Given the description of an element on the screen output the (x, y) to click on. 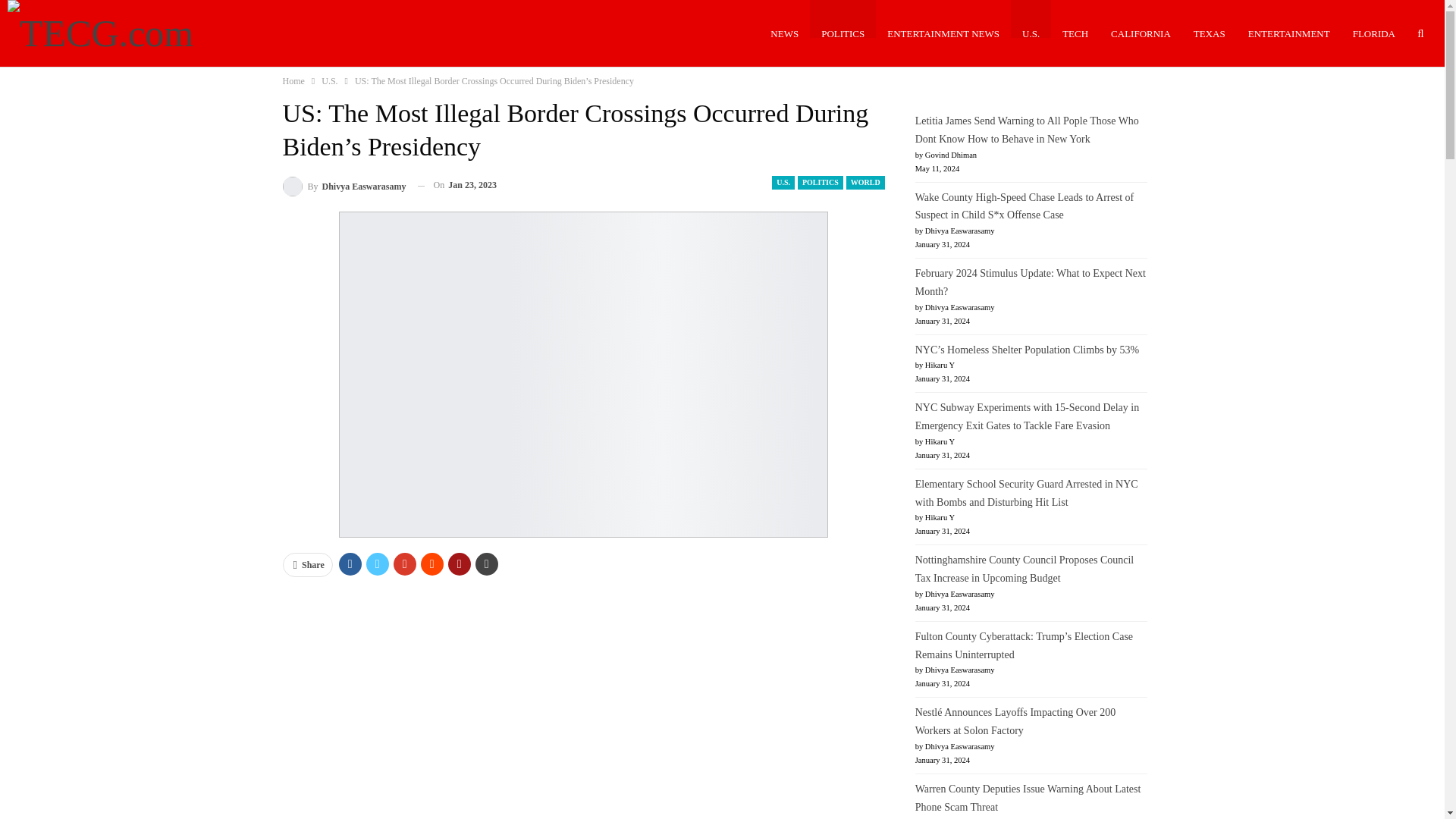
POLITICS (842, 33)
Browse Author Articles (344, 185)
ENTERTAINMENT NEWS (943, 33)
Advertisement (583, 701)
